Given the description of an element on the screen output the (x, y) to click on. 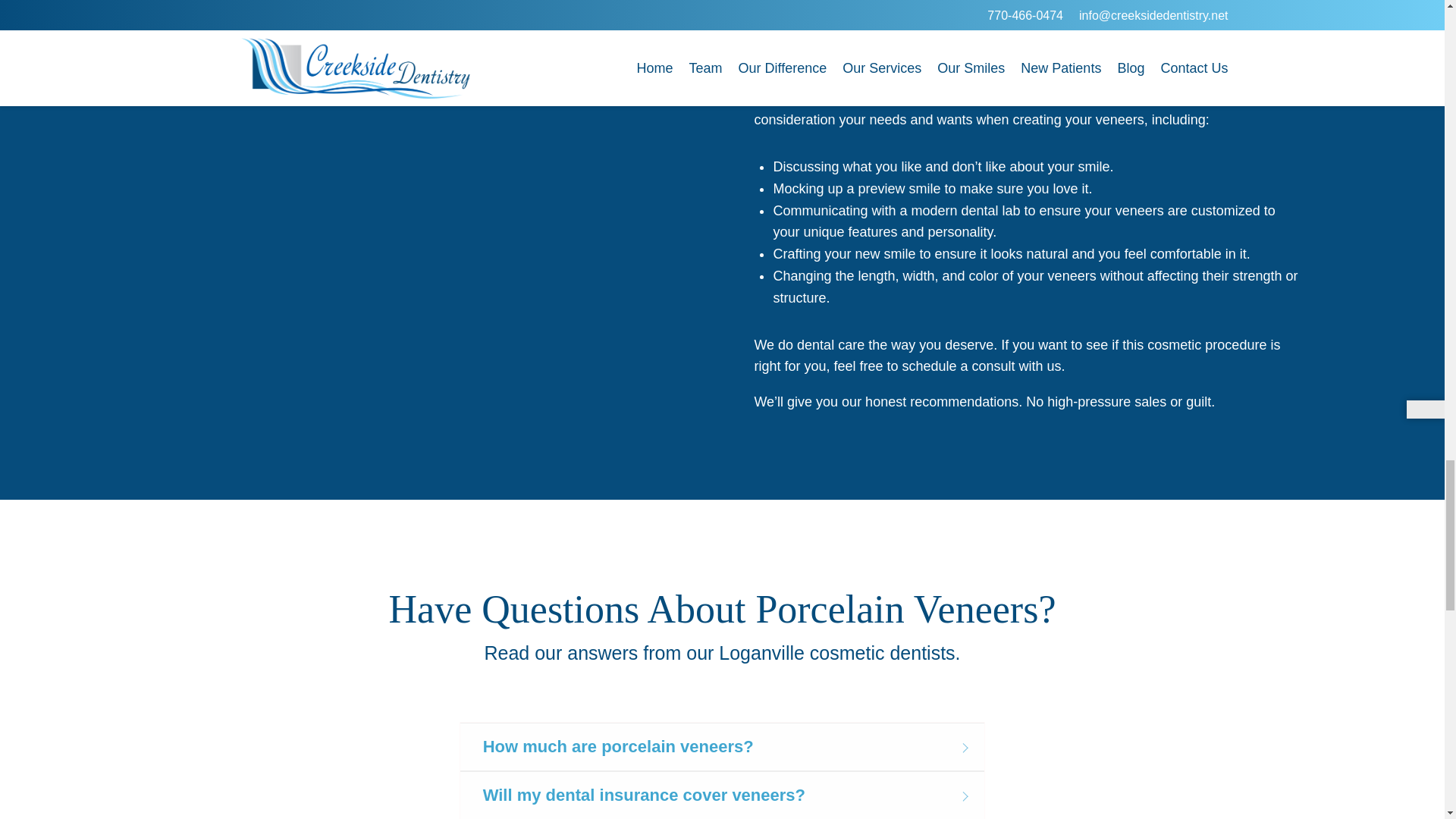
Dr. Beau Upshaw (1184, 97)
Will my dental insurance cover veneers? (722, 795)
How much are porcelain veneers? (722, 746)
Dr. Stewart Helton (1045, 97)
